Given the description of an element on the screen output the (x, y) to click on. 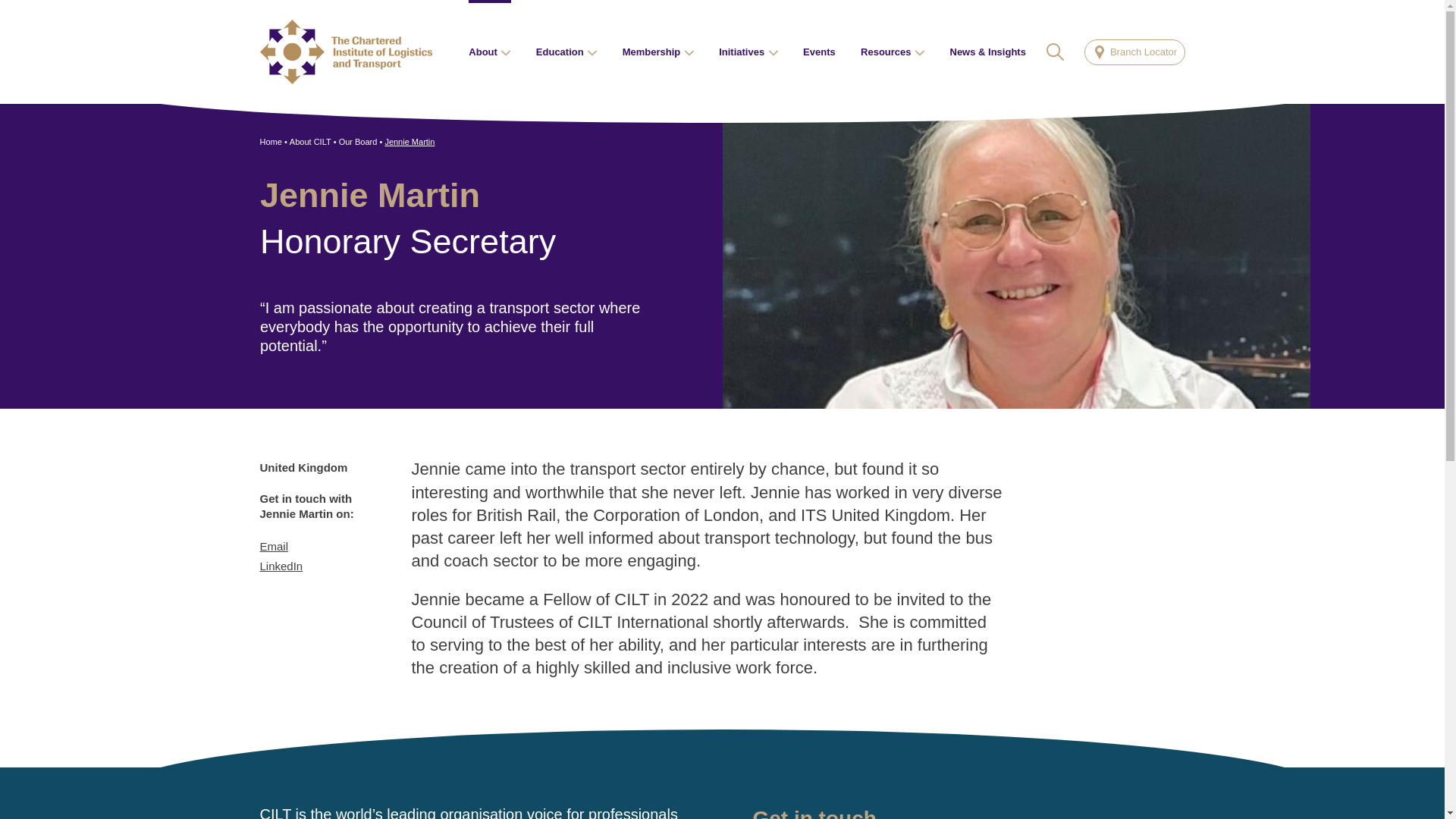
Our Board (358, 141)
Home (270, 141)
Branch Locator (1134, 52)
Jennie Martin (408, 141)
Membership (658, 52)
About CILT (310, 141)
